Given the description of an element on the screen output the (x, y) to click on. 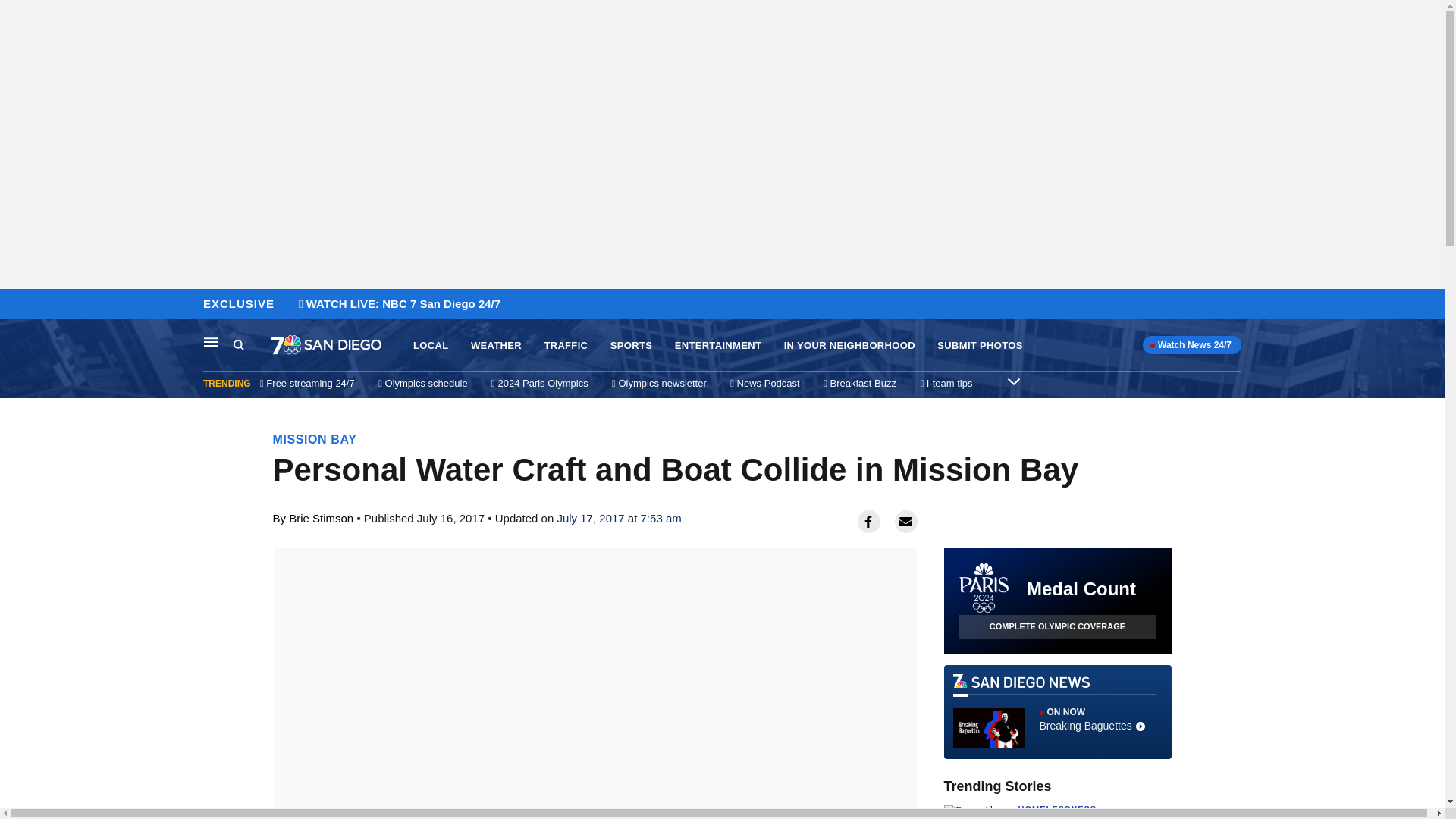
Main Navigation (210, 341)
Expand (1013, 381)
SPORTS (631, 345)
MISSION BAY (314, 439)
HOMELESSNESS (1056, 809)
COMPLETE OLYMPIC COVERAGE (1057, 626)
LOCAL (430, 345)
TRAFFIC (565, 345)
ENTERTAINMENT (718, 345)
Search (252, 345)
WEATHER (1056, 712)
IN YOUR NEIGHBORHOOD (495, 345)
Skip to content (849, 345)
